Given the description of an element on the screen output the (x, y) to click on. 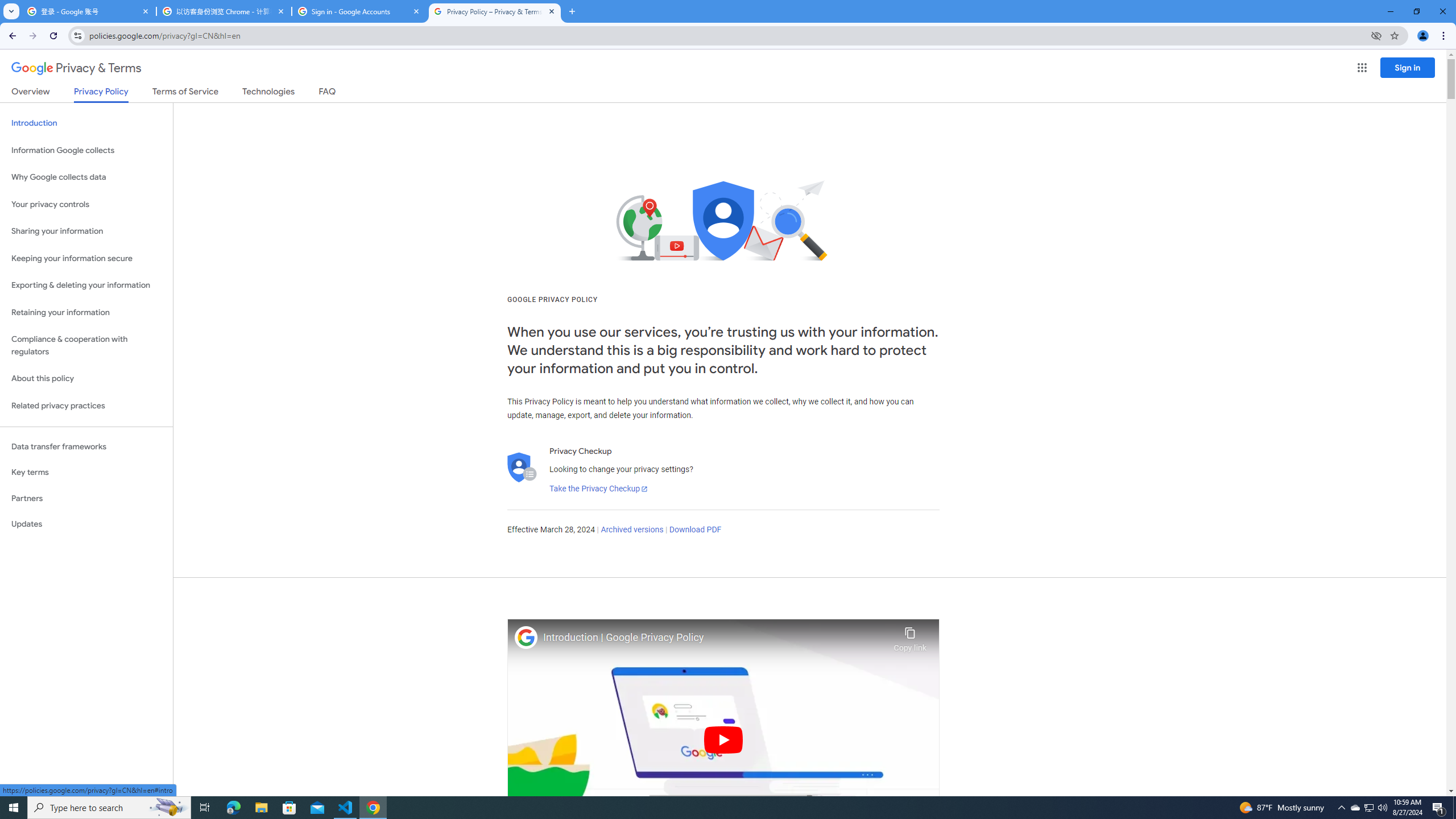
Sign in - Google Accounts (359, 11)
Take the Privacy Checkup (597, 488)
Updates (86, 524)
Privacy Policy (100, 94)
